Given the description of an element on the screen output the (x, y) to click on. 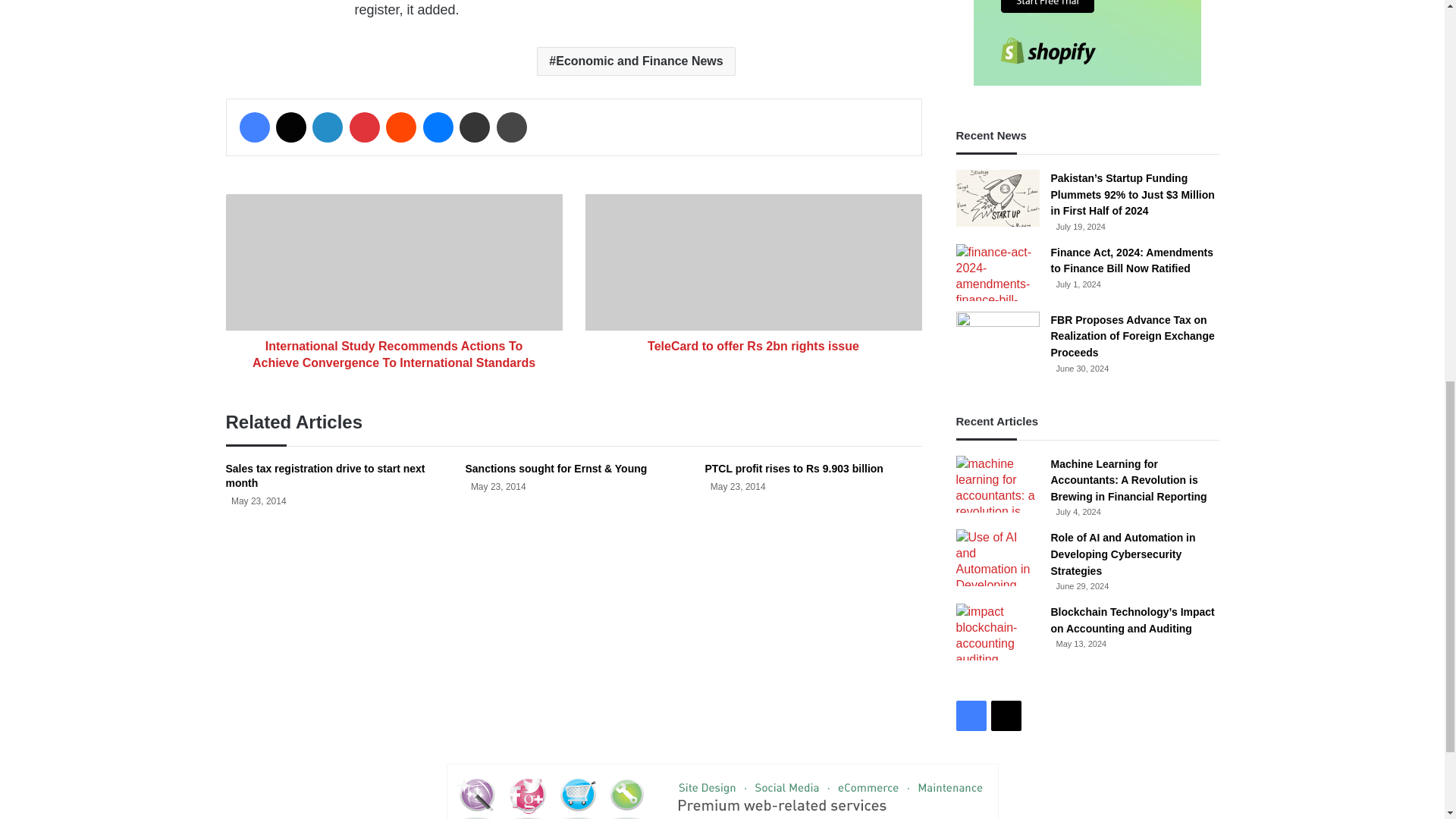
Reddit (400, 127)
Facebook (254, 127)
Print (511, 127)
Messenger (437, 127)
Share via Email (474, 127)
LinkedIn (327, 127)
Pinterest (364, 127)
X (290, 127)
